Given the description of an element on the screen output the (x, y) to click on. 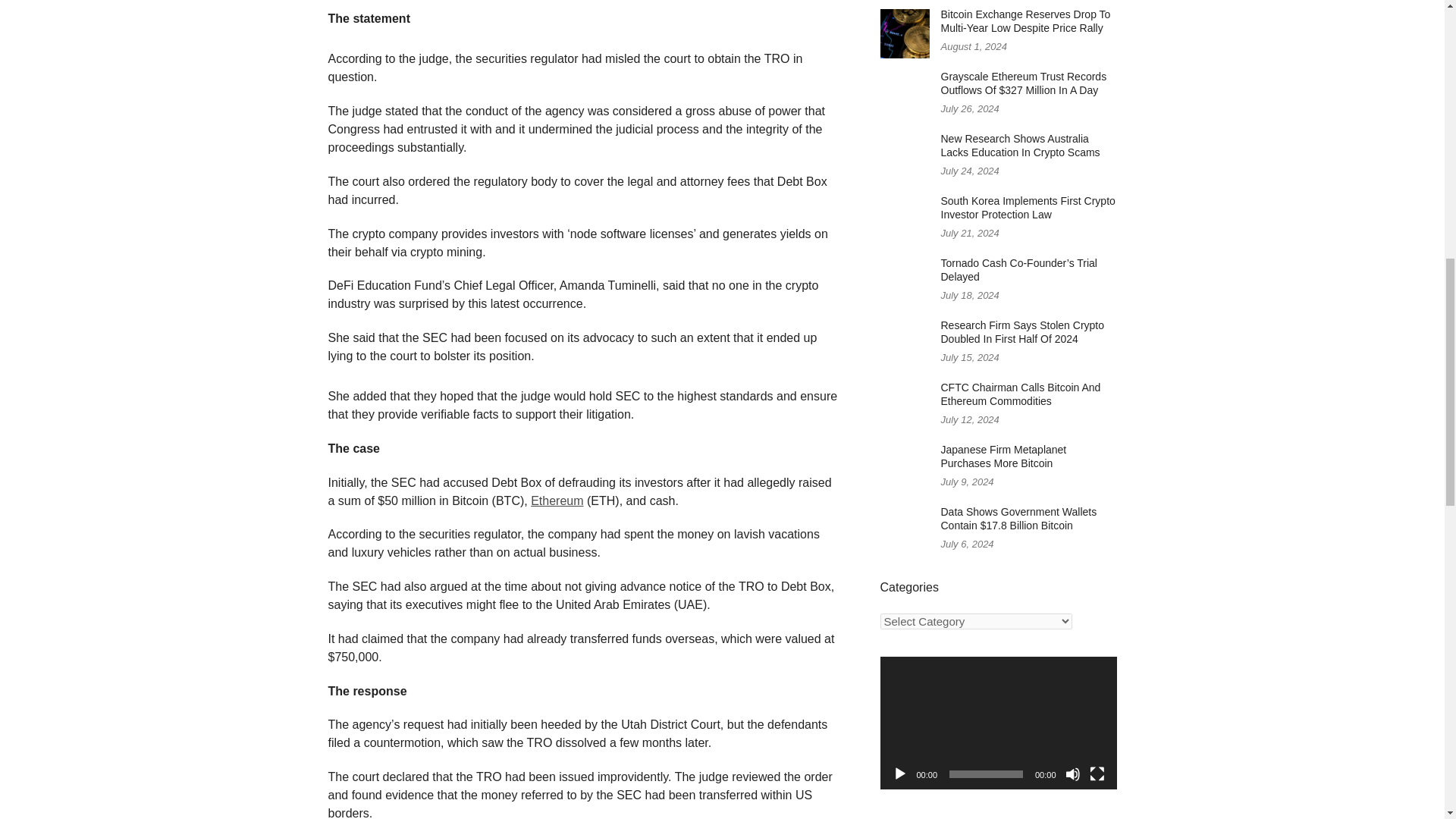
Ethereum (557, 500)
New Research Shows Australia Lacks Education In Crypto Scams (1019, 145)
